Given the description of an element on the screen output the (x, y) to click on. 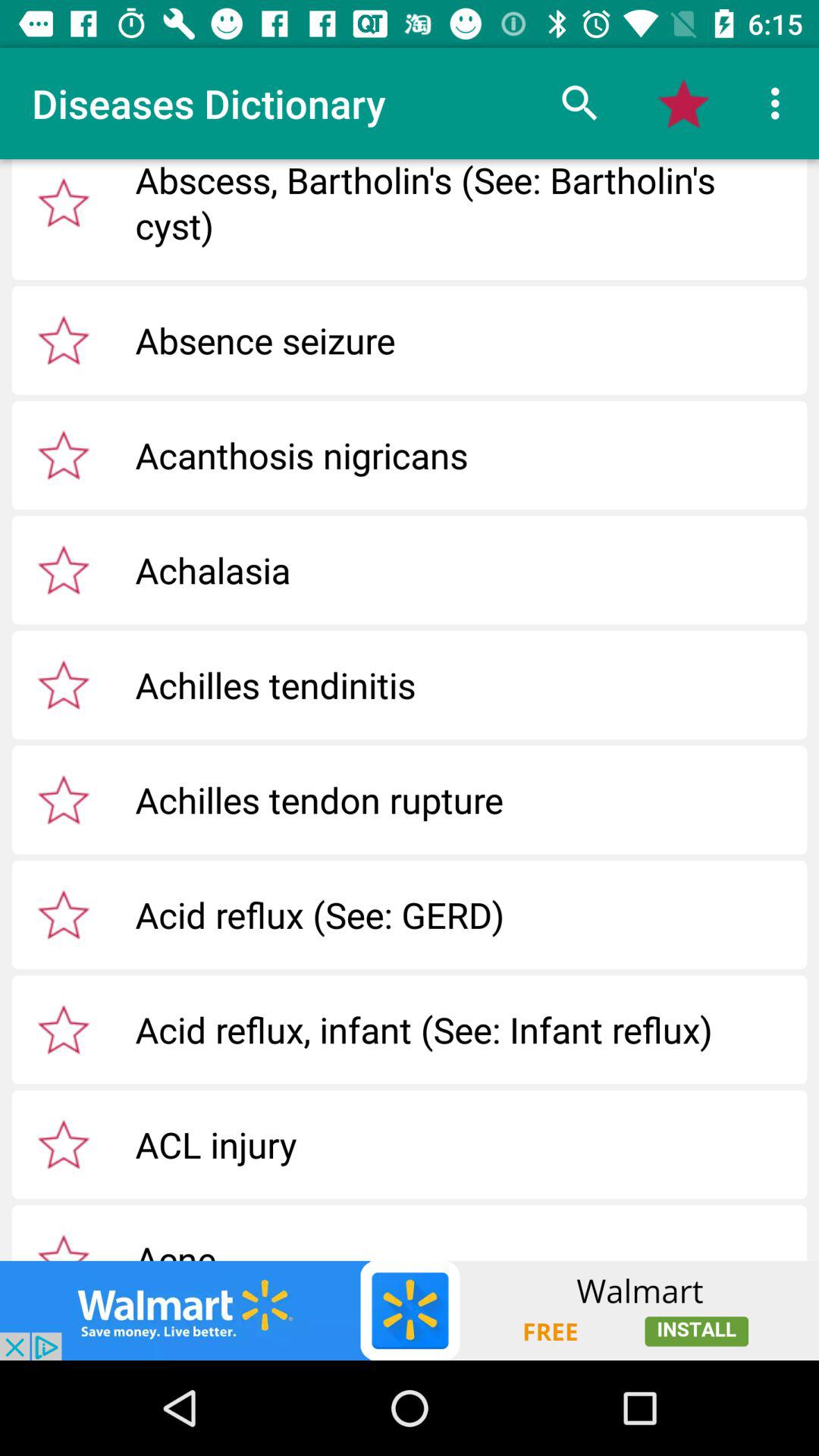
shows the advertisement tab (409, 1310)
